Given the description of an element on the screen output the (x, y) to click on. 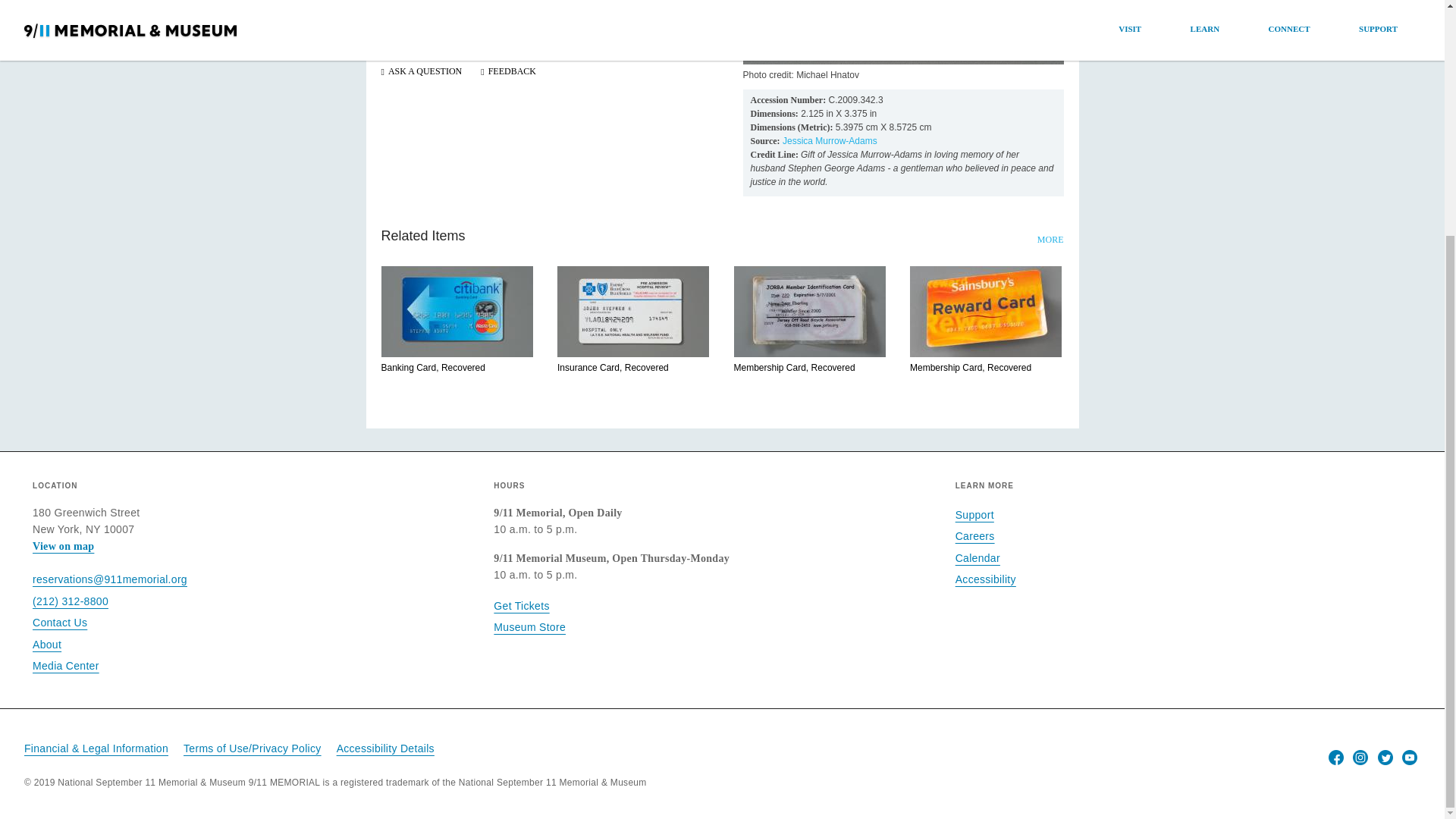
Media Center (65, 666)
Jessica Murrow-Adams (830, 140)
ASK A QUESTION (424, 71)
